Given the description of an element on the screen output the (x, y) to click on. 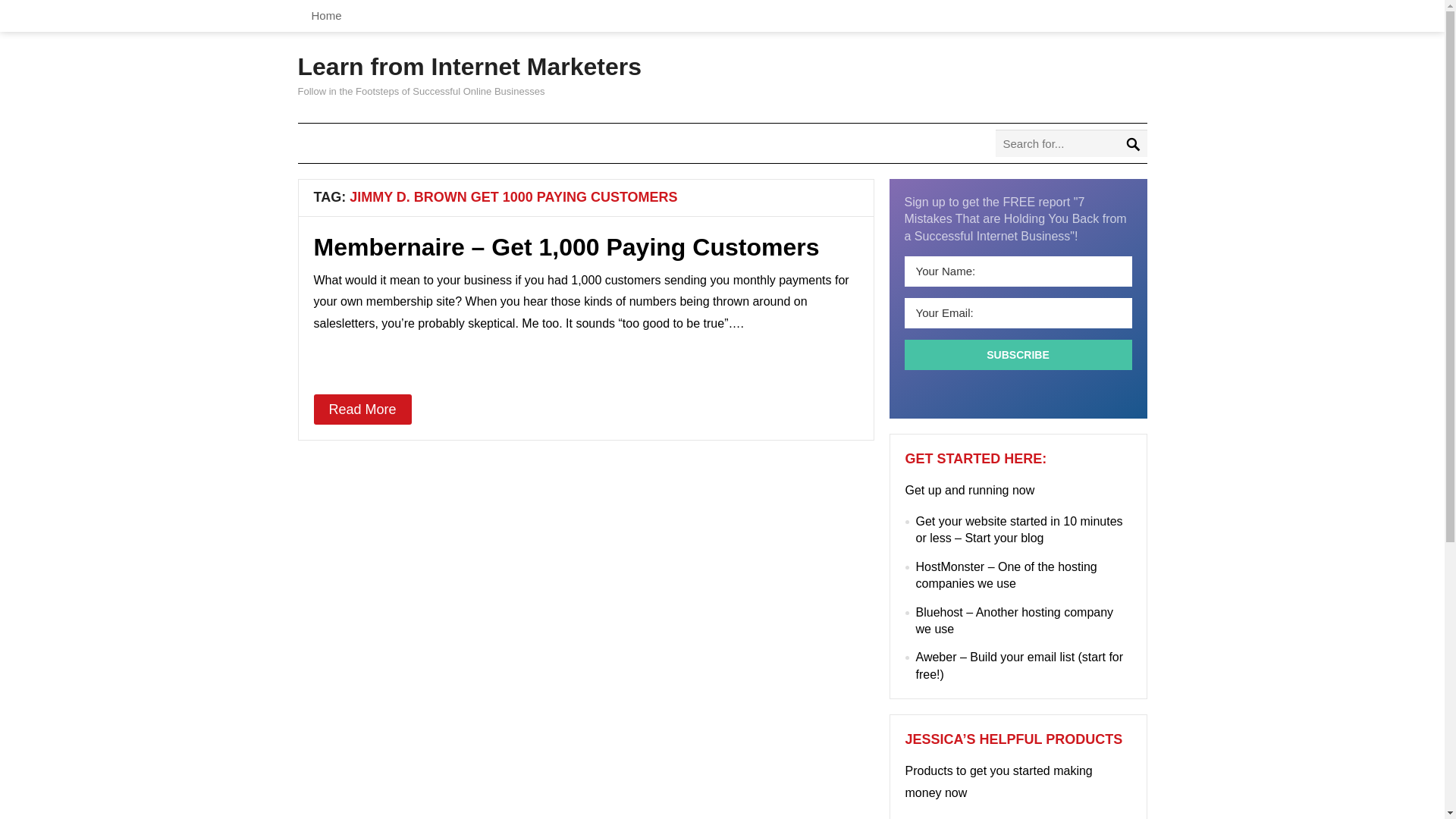
Your Email: (1017, 313)
Learn from Internet Marketers (468, 66)
Aweber (935, 656)
Home (326, 15)
HostMonster (950, 566)
Subscribe (1017, 354)
Bluehost (938, 612)
Subscribe (1017, 354)
Read More (363, 409)
Get your website started in 10 minutes or less (1018, 529)
